Given the description of an element on the screen output the (x, y) to click on. 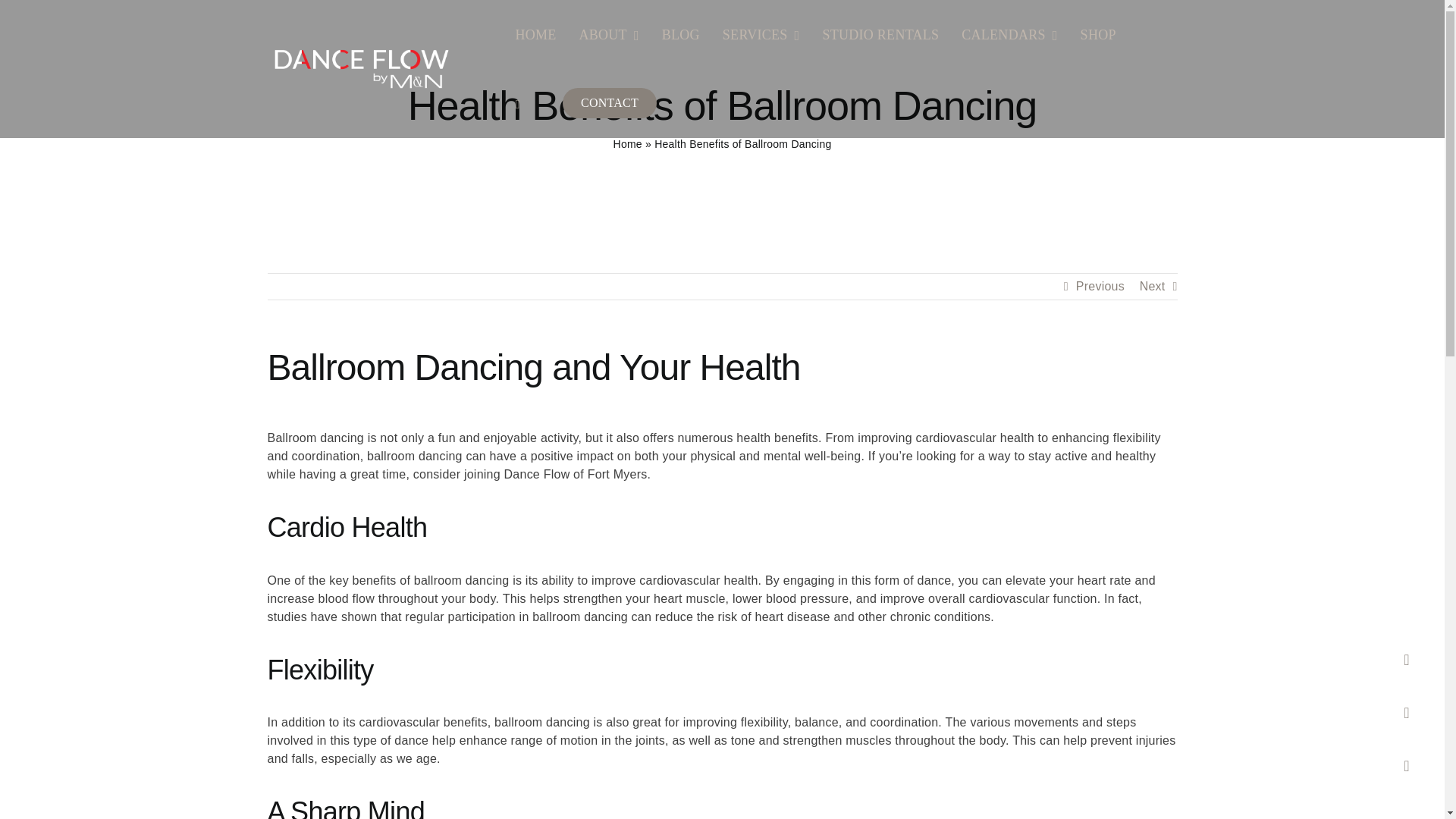
HOME (535, 33)
CALENDARS (1009, 33)
Home (627, 143)
ABOUT (608, 33)
Next (1153, 286)
STUDIO RENTALS (880, 33)
Previous (1099, 286)
CONTACT (606, 102)
SERVICES (760, 33)
